Given the description of an element on the screen output the (x, y) to click on. 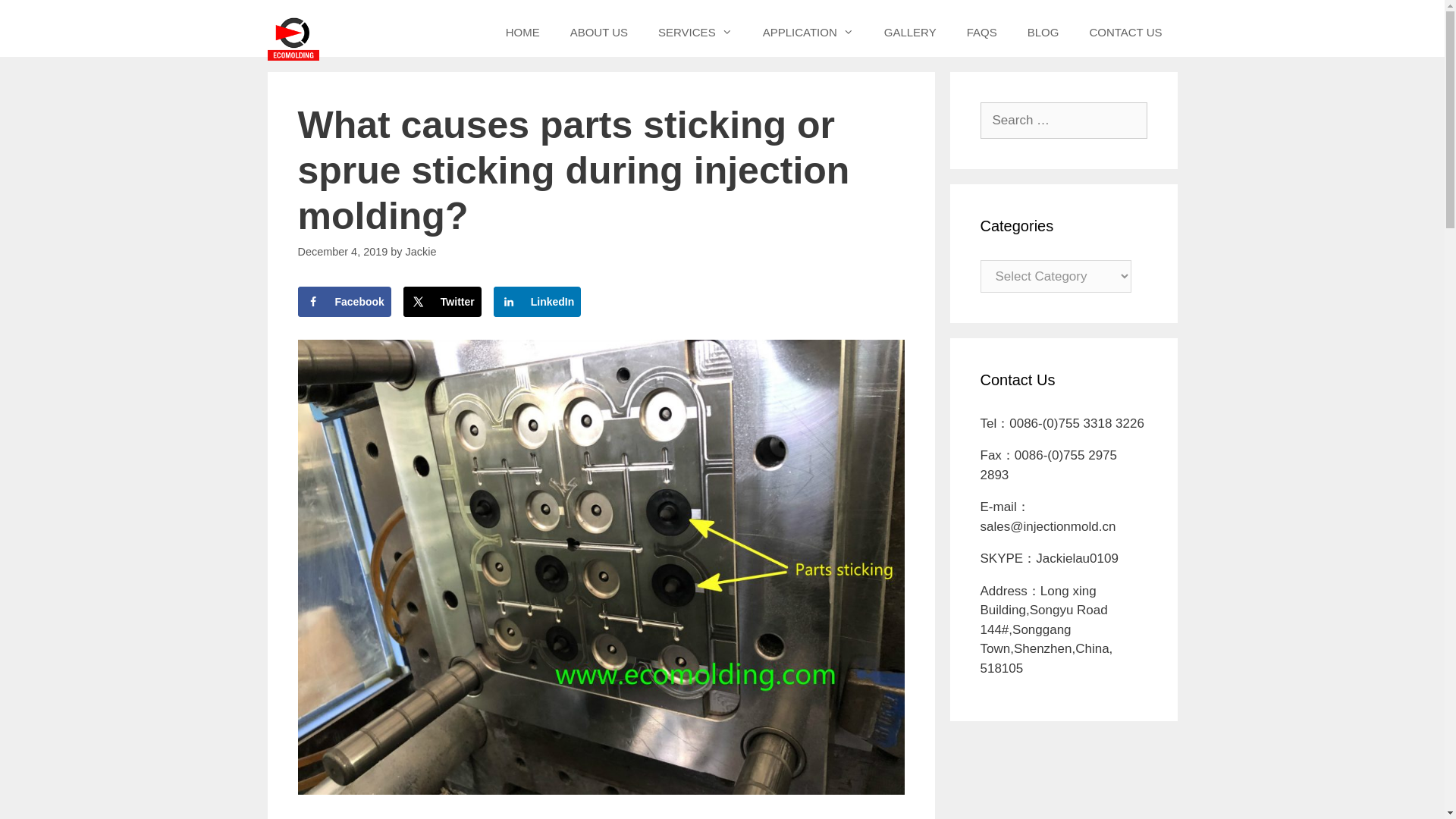
Jackie (421, 251)
Twitter (442, 301)
Share on Facebook (343, 301)
CONTACT US (1125, 32)
LinkedIn (536, 301)
APPLICATION (808, 32)
GALLERY (910, 32)
View all posts by Jackie (421, 251)
Search for: (1063, 120)
BLOG (1042, 32)
HOME (522, 32)
Facebook (343, 301)
ABOUT US (598, 32)
FAQS (981, 32)
Share on X (442, 301)
